Given the description of an element on the screen output the (x, y) to click on. 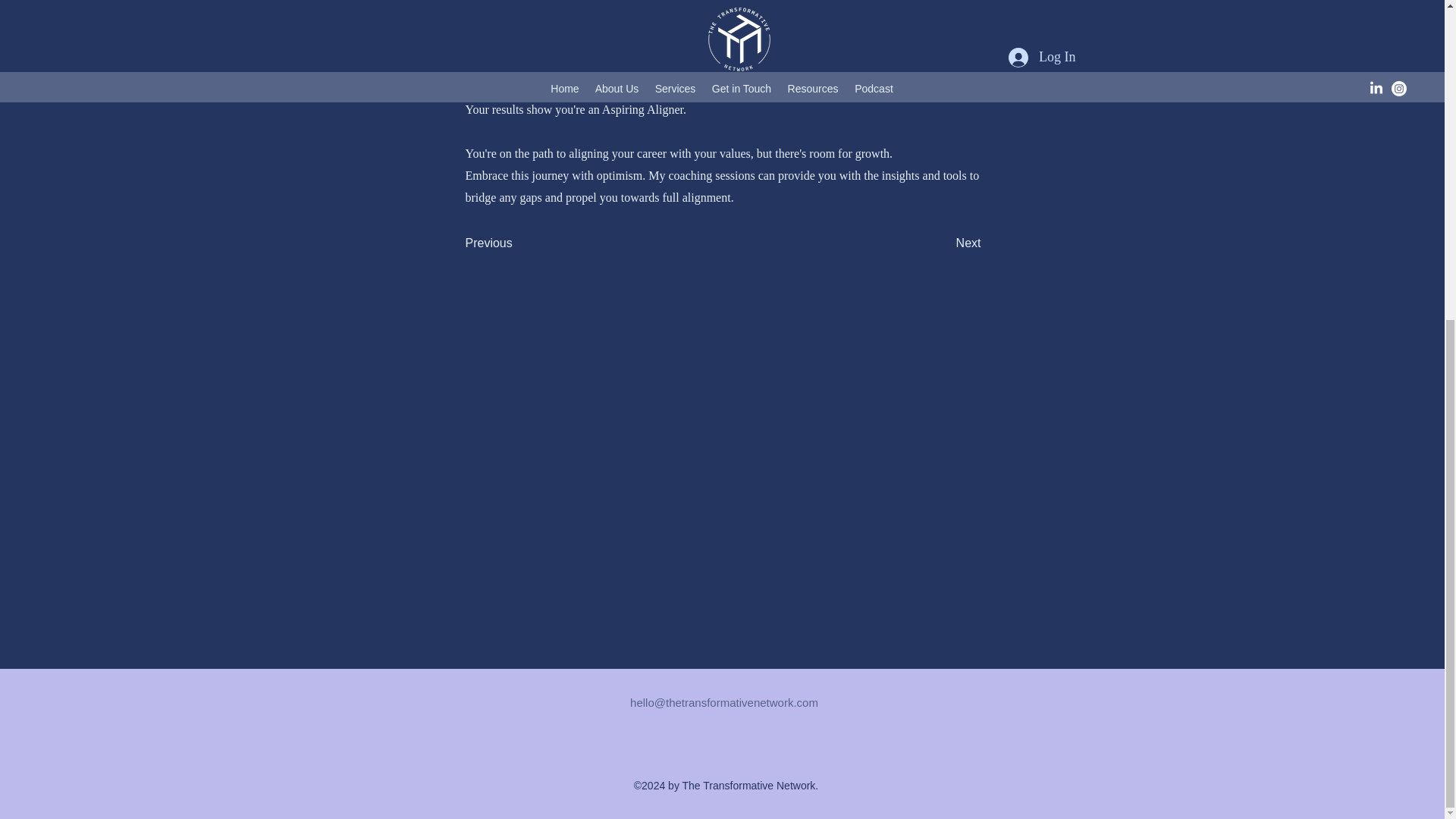
Previous (515, 243)
Next (943, 243)
Panoramic View.jpg (721, 35)
